Given the description of an element on the screen output the (x, y) to click on. 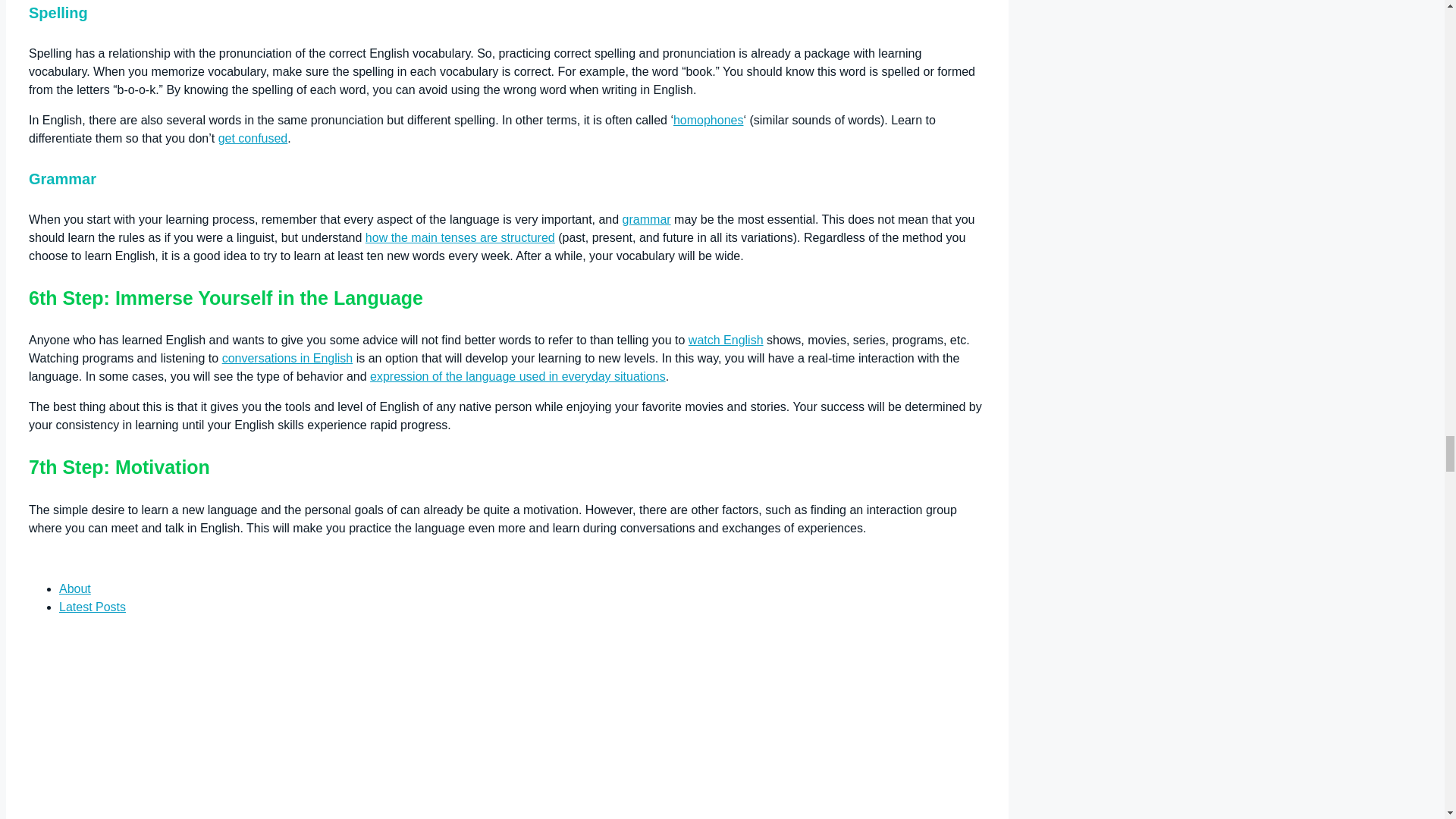
conversations in English (287, 358)
Isabella Claire (123, 813)
watch English (725, 339)
grammar (647, 219)
About (74, 588)
expression of the language used in everyday situations (517, 376)
homophones (708, 119)
get confused (253, 137)
how the main tenses are structured (459, 237)
